Given the description of an element on the screen output the (x, y) to click on. 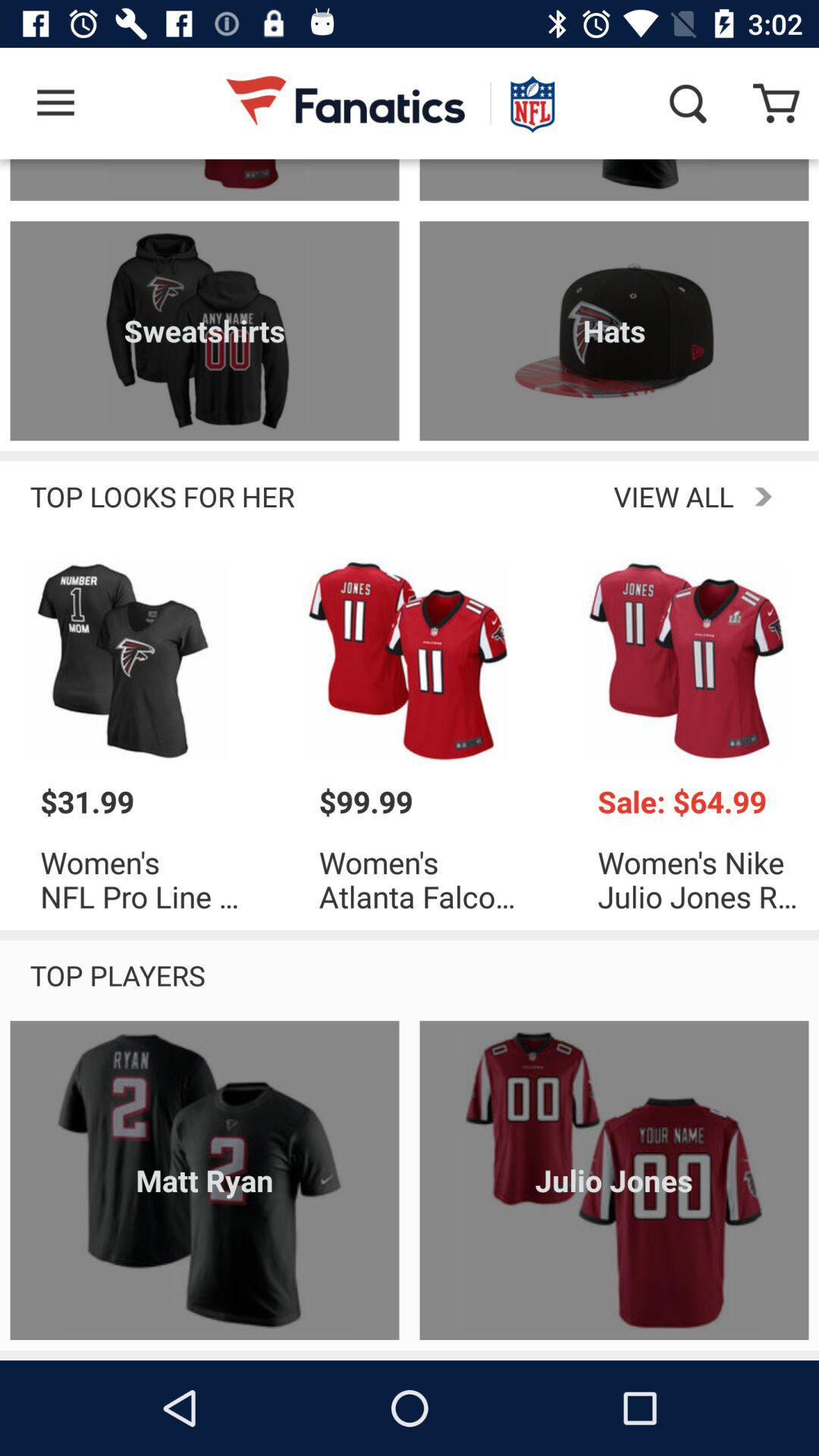
flip until view all icon (551, 496)
